Given the description of an element on the screen output the (x, y) to click on. 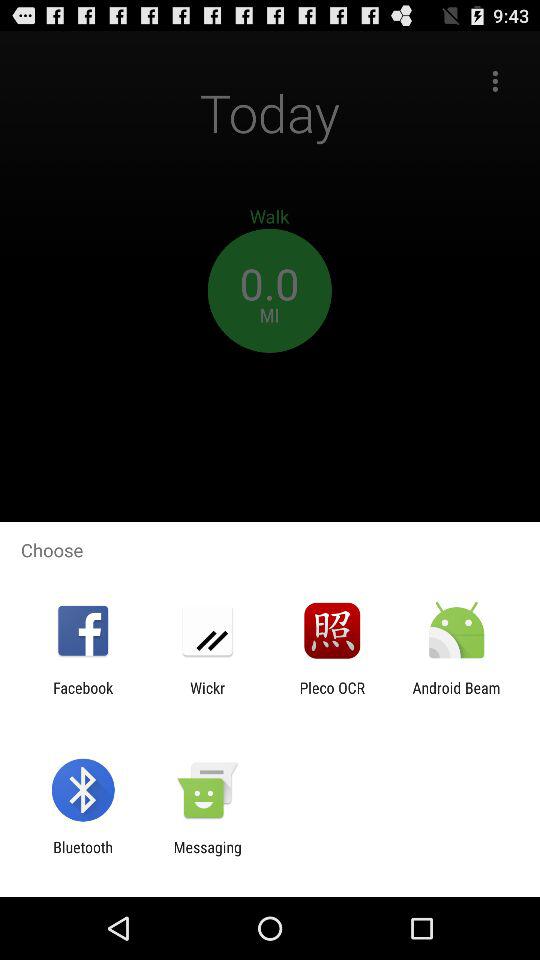
swipe to the facebook app (83, 696)
